Given the description of an element on the screen output the (x, y) to click on. 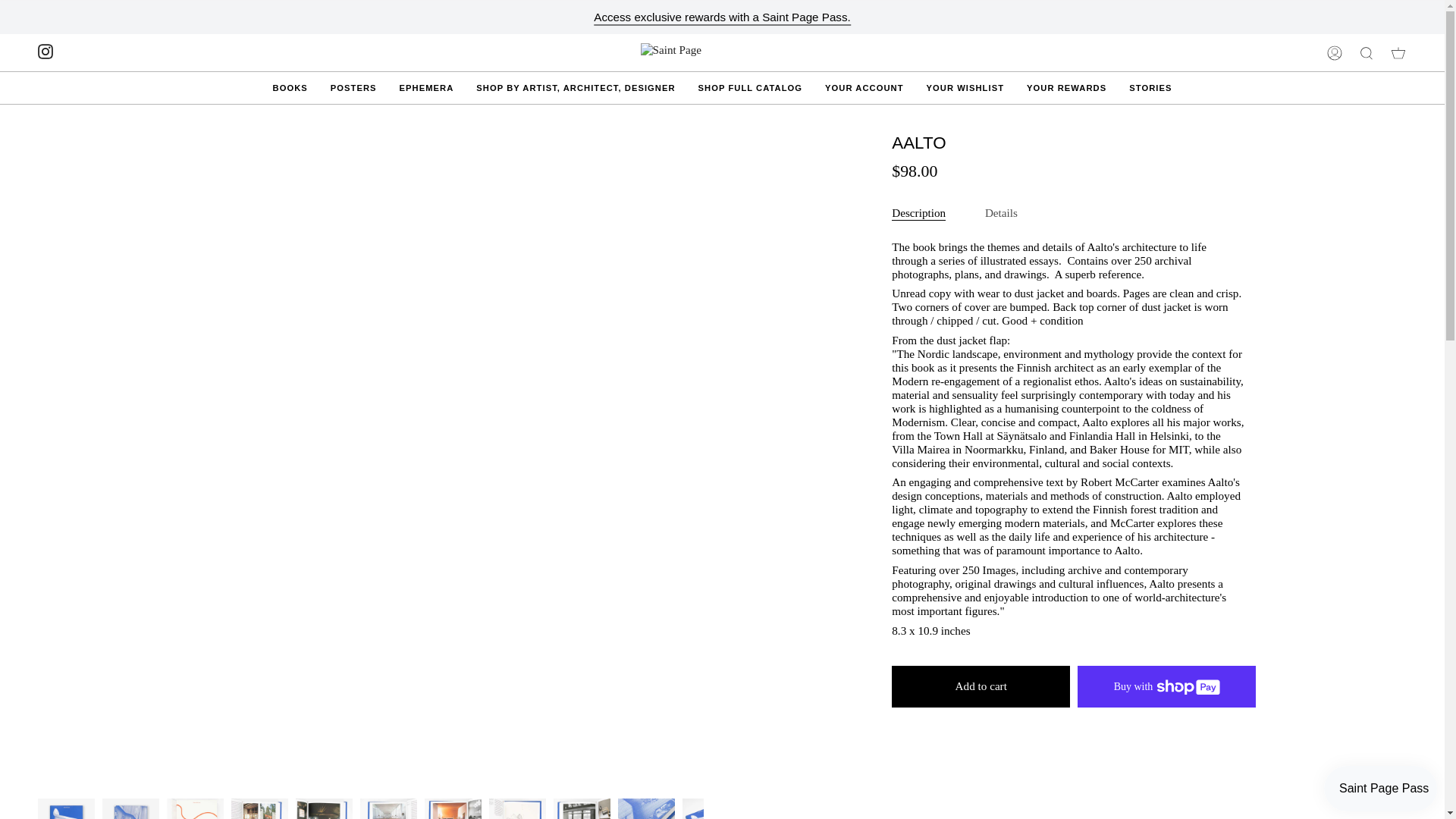
POSTERS (353, 88)
SHOP BY ARTIST, ARCHITECT, DESIGNER (574, 88)
YOUR WISHLIST (964, 88)
Access exclusive rewards with a Saint Page Pass. (722, 16)
YOUR REWARDS (1066, 88)
SHOP FULL CATALOG (750, 88)
Instagram (45, 50)
EPHEMERA (426, 88)
Smile.io Rewards Program Launcher (1380, 788)
STORIES (1150, 88)
BOOKS (290, 88)
YOUR ACCOUNT (864, 88)
Saint Page on Instagram (45, 50)
